Given the description of an element on the screen output the (x, y) to click on. 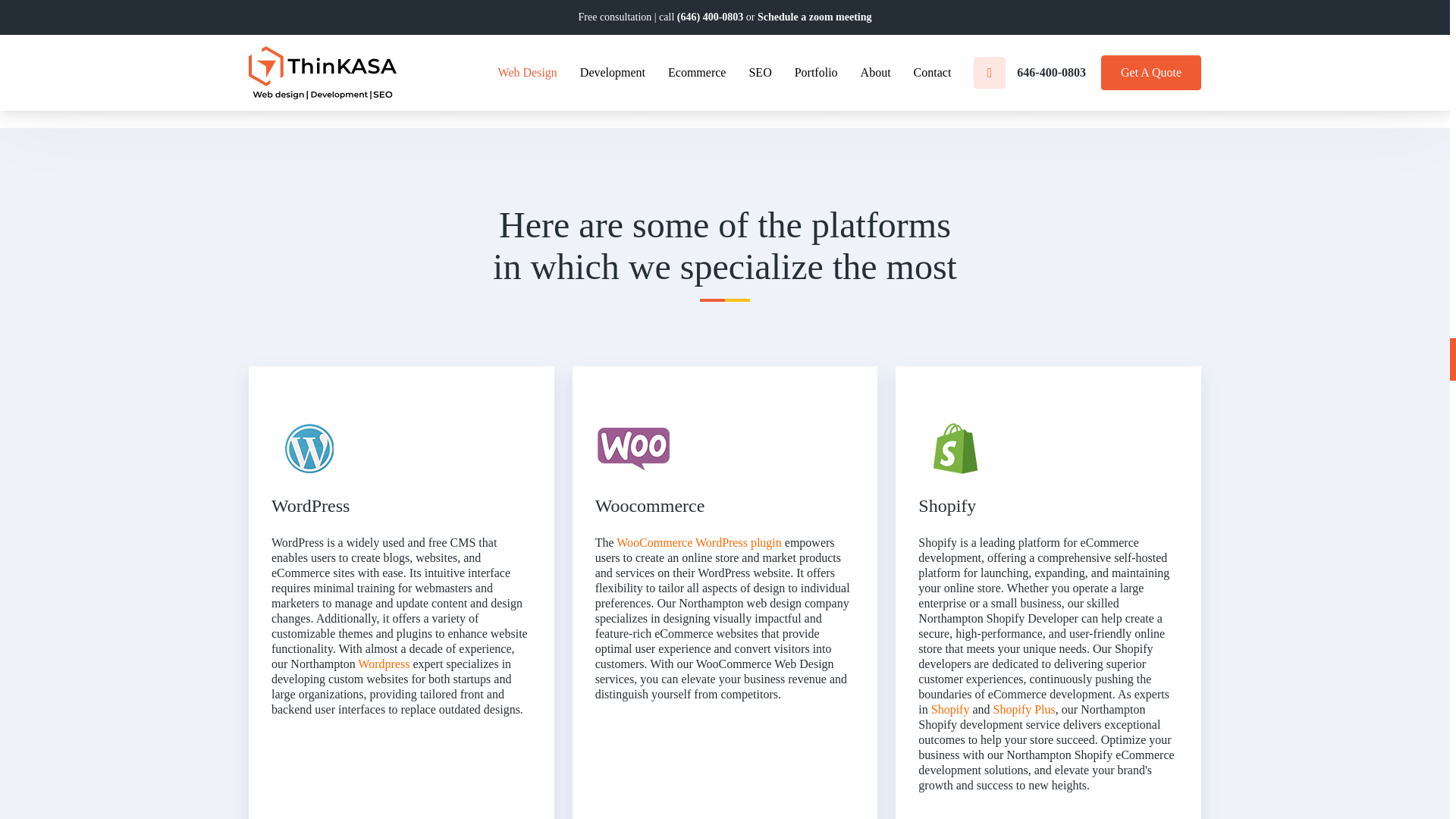
WooCommerce WordPress plugin (698, 542)
Shopify (950, 708)
Shopify Plus (1023, 708)
Wordpress (383, 663)
